Given the description of an element on the screen output the (x, y) to click on. 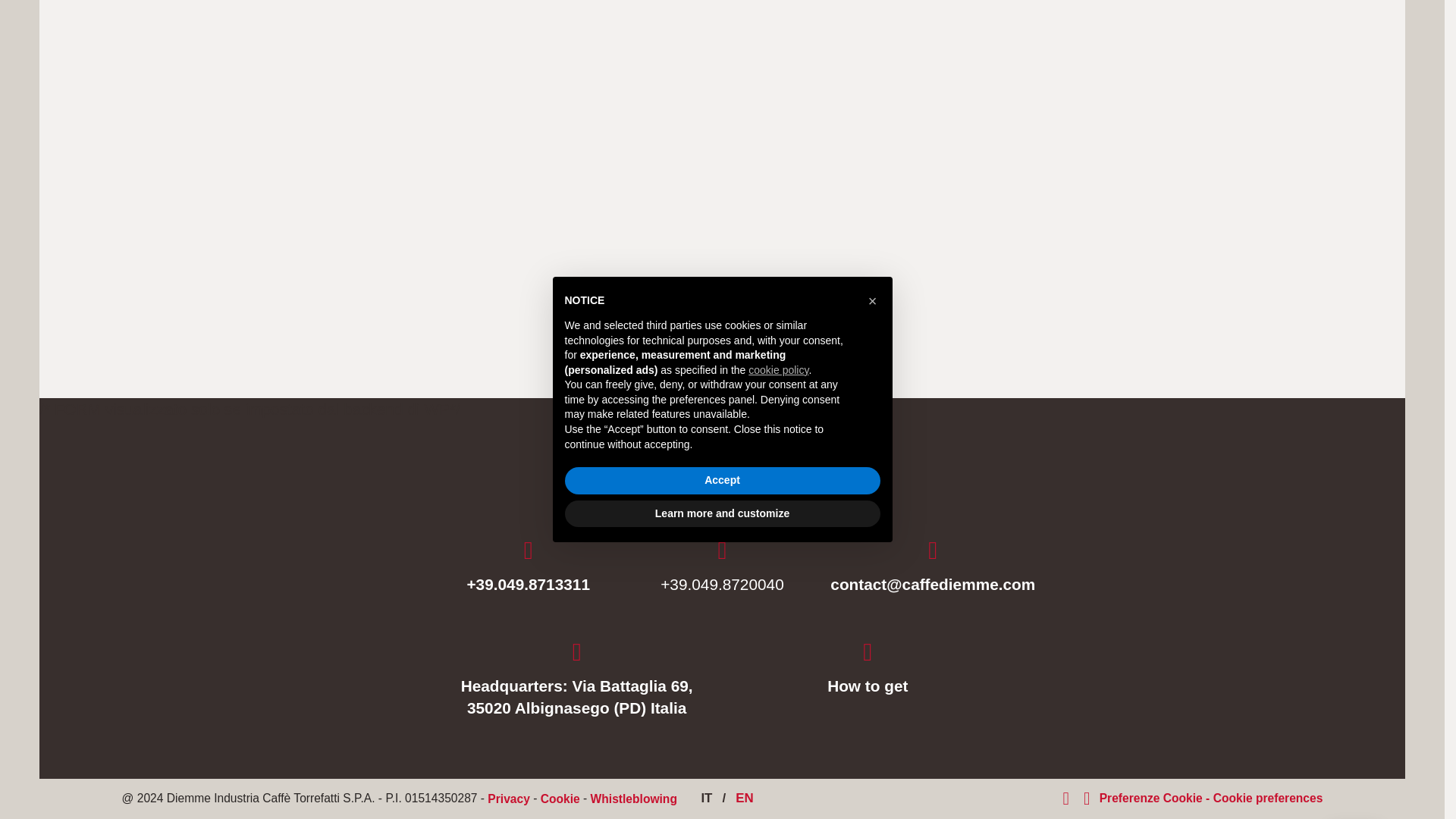
TORNA AL BLOG (721, 322)
How to get (867, 667)
Cookie (559, 798)
Privacy (508, 798)
